Given the description of an element on the screen output the (x, y) to click on. 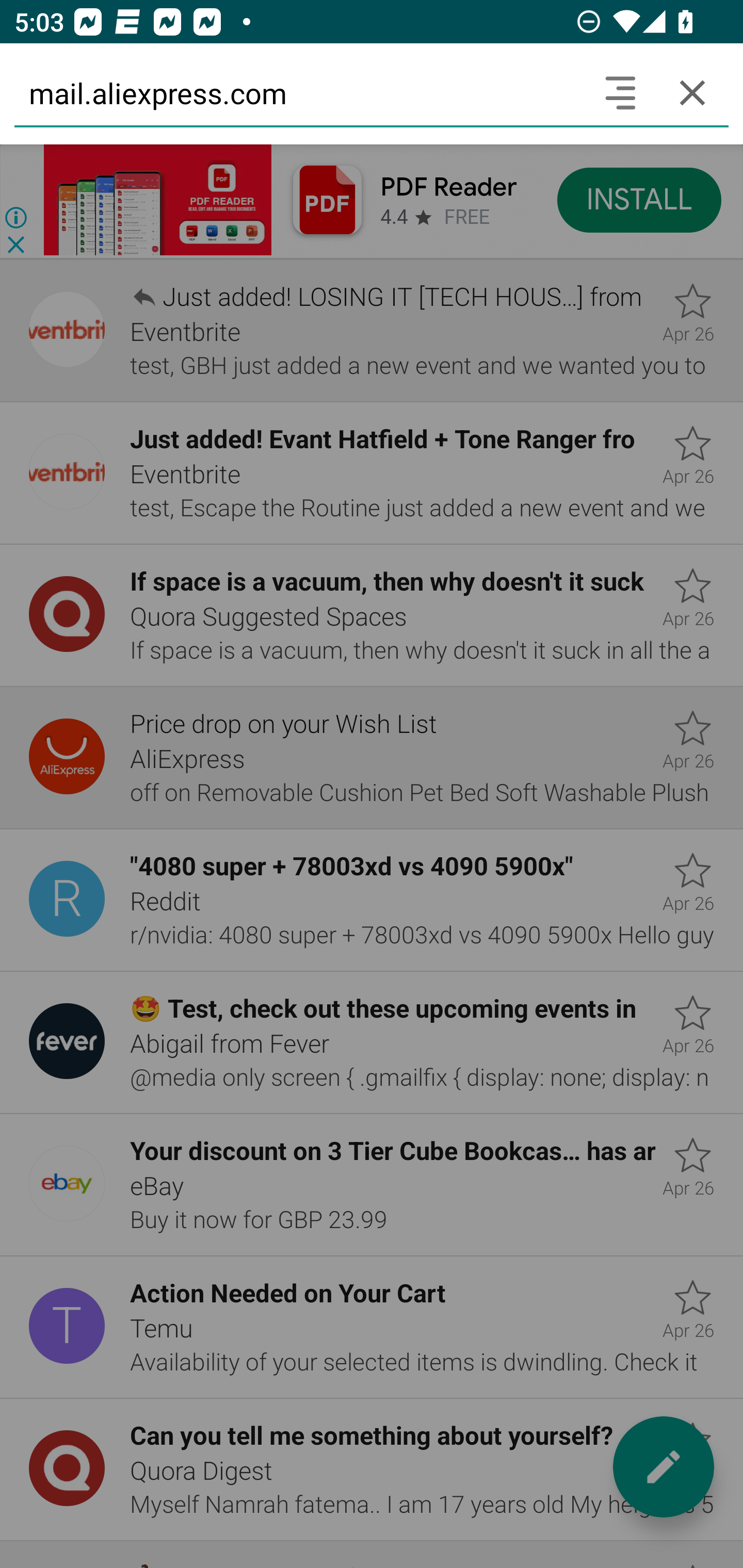
mail.aliexpress.com (298, 92)
Search headers and text (619, 92)
Cancel (692, 92)
